Given the description of an element on the screen output the (x, y) to click on. 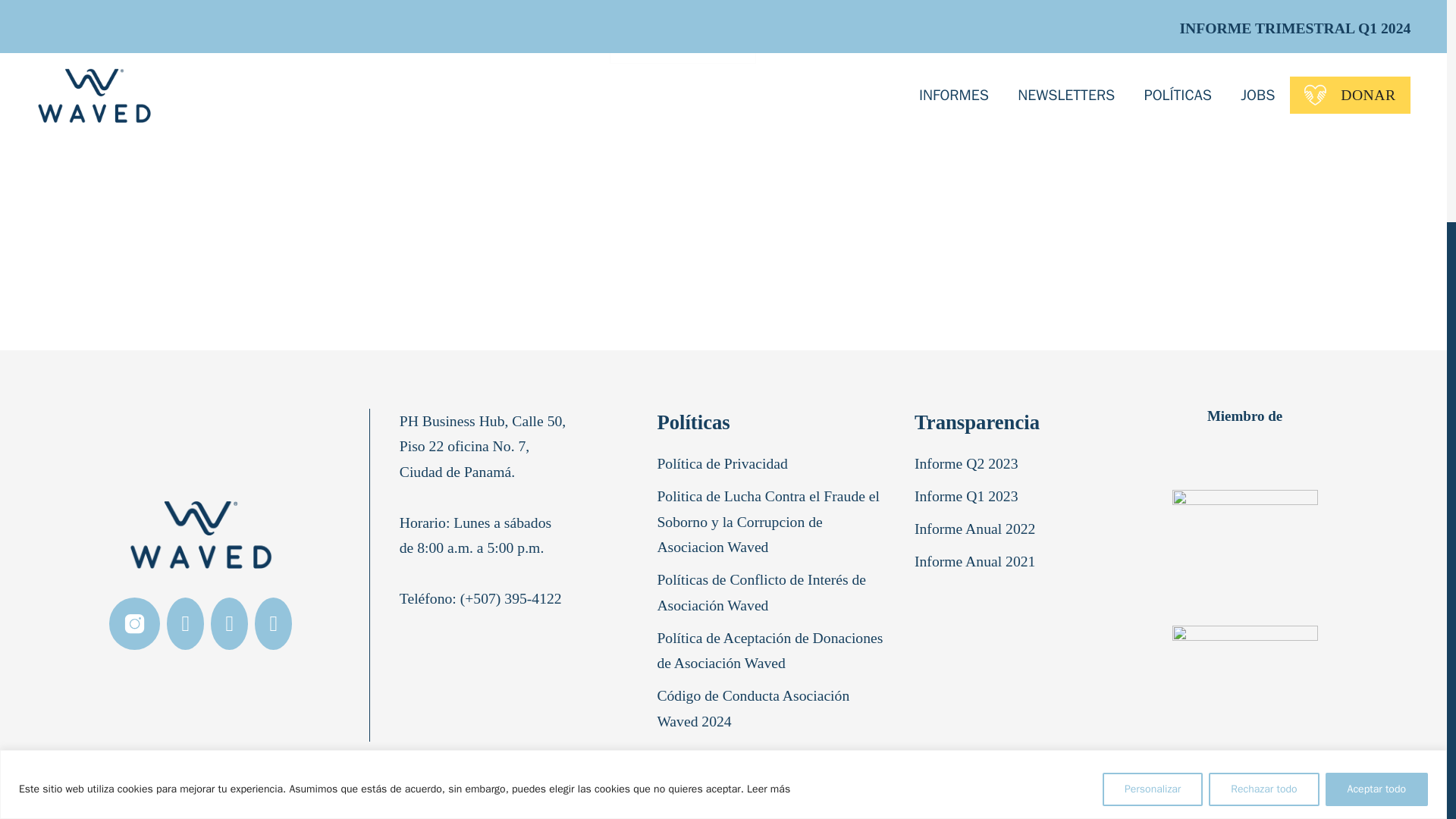
Rechazar todo (1263, 483)
Aceptar todo (1376, 483)
Informe Q1 2023 (969, 500)
Personalizar (1152, 483)
Informe Q2 2023 (969, 467)
